Given the description of an element on the screen output the (x, y) to click on. 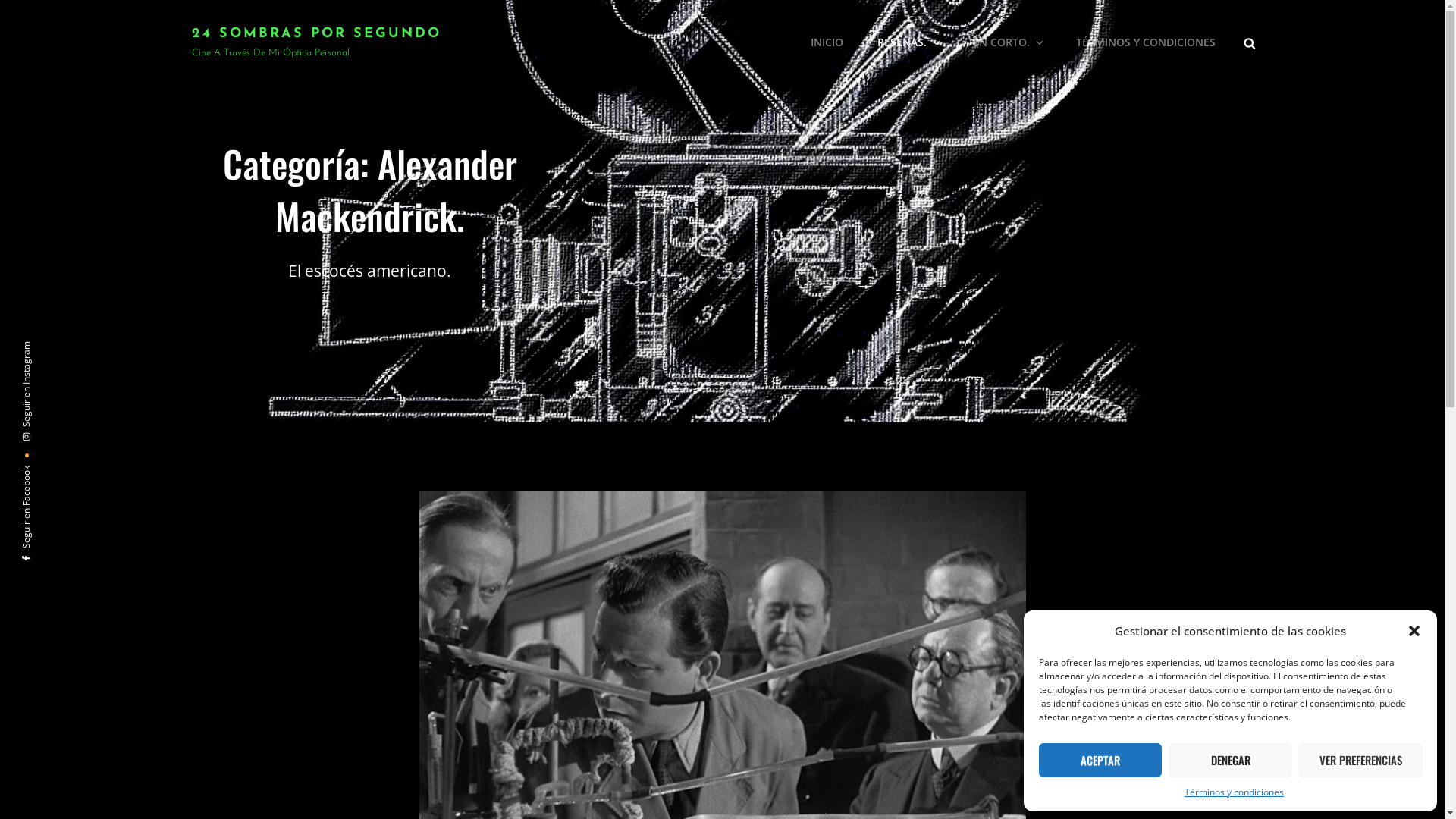
ACEPTAR Element type: text (1099, 760)
VER PREFERENCIAS Element type: text (1360, 760)
24 SOMBRAS POR SEGUNDO Element type: text (315, 33)
Seguir en Facebook Element type: text (67, 472)
Seguir en Instagram Element type: text (68, 348)
DENEGAR Element type: text (1230, 760)
BUSCAR Element type: text (1249, 42)
INICIO Element type: text (825, 42)
EN CORTO. Element type: text (1006, 42)
